Given the description of an element on the screen output the (x, y) to click on. 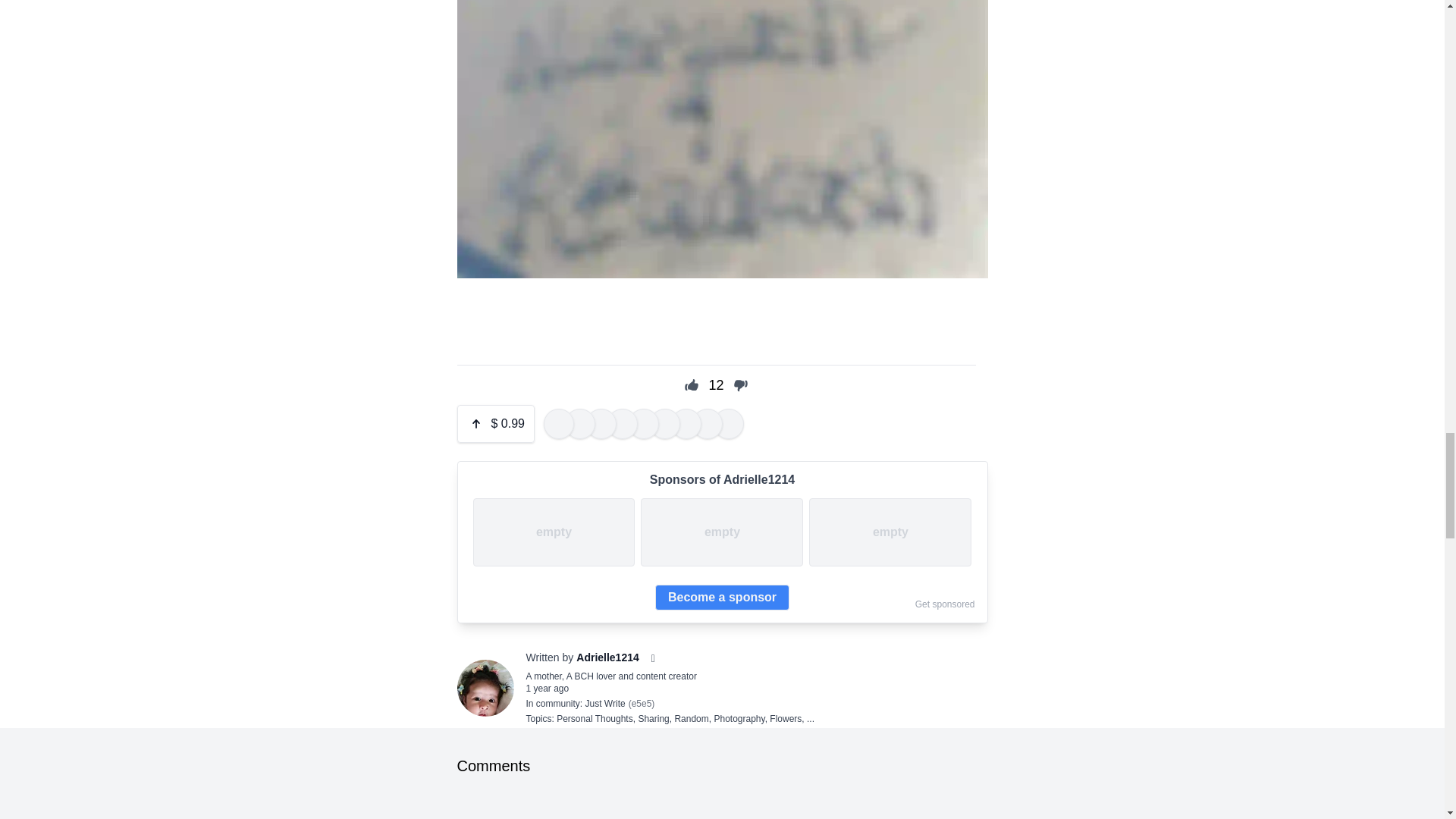
Sharing (652, 718)
Random (690, 718)
Get sponsored (945, 603)
Photography (738, 718)
community (557, 703)
Adrielle1214 (607, 657)
2022-10-16 07:43:46 (547, 688)
Become a sponsor (722, 597)
Flowers (786, 718)
Personal Thoughts (594, 718)
